Given the description of an element on the screen output the (x, y) to click on. 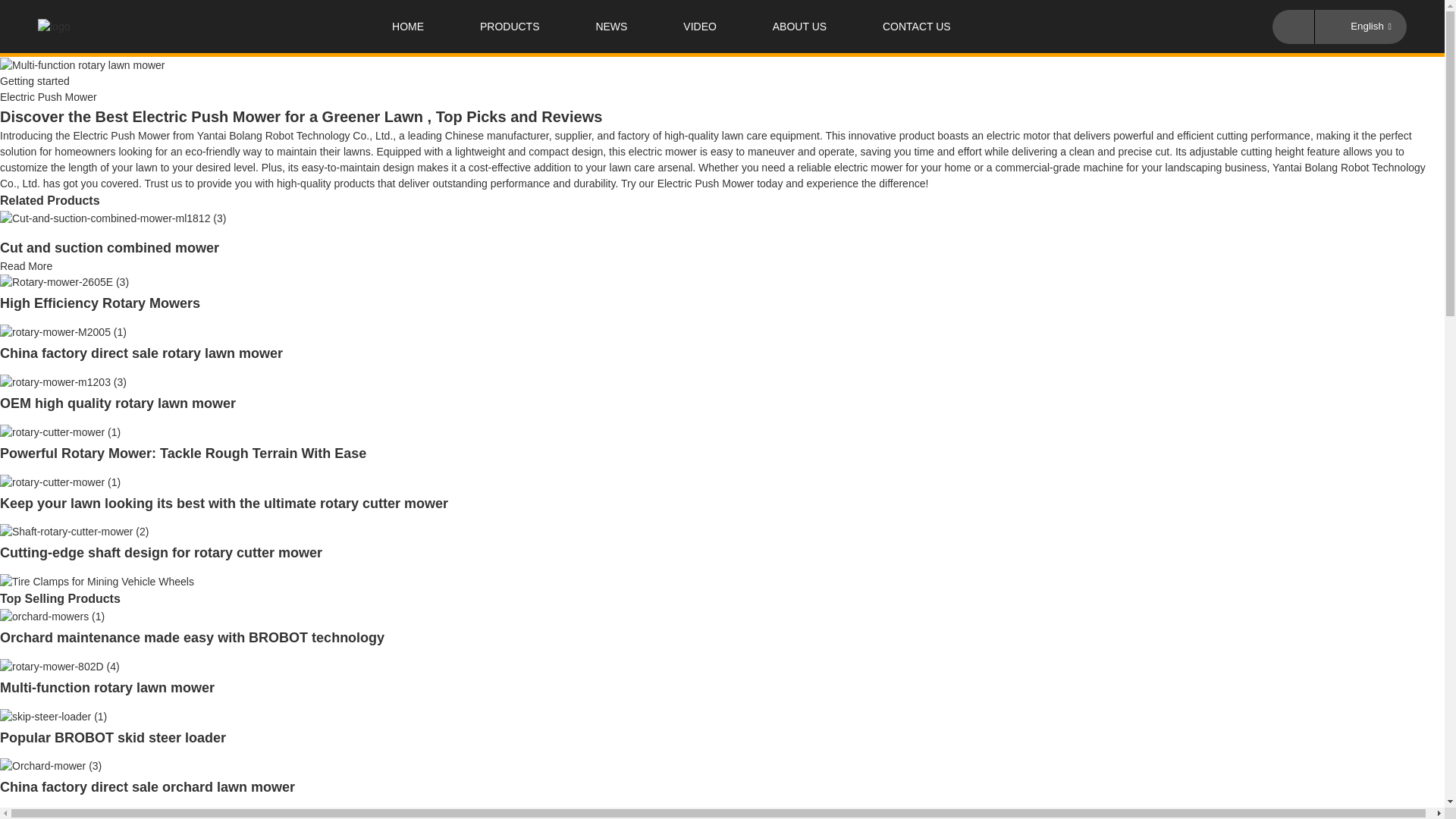
CONTACT US (916, 26)
OEM high quality rotary lawn mower (63, 381)
China factory direct sale rotary lawn mower (141, 353)
High Efficiency Rotary Mowers (100, 303)
High Efficiency Rotary Mowers (100, 303)
Powerful Rotary Mower: Tackle Rough Terrain With Ease (183, 453)
ABOUT US (799, 26)
HOME (408, 26)
OEM high quality rotary lawn mower (117, 403)
NEWS (610, 26)
Getting started (34, 80)
English (1357, 26)
OEM high quality rotary lawn mower (117, 403)
